Given the description of an element on the screen output the (x, y) to click on. 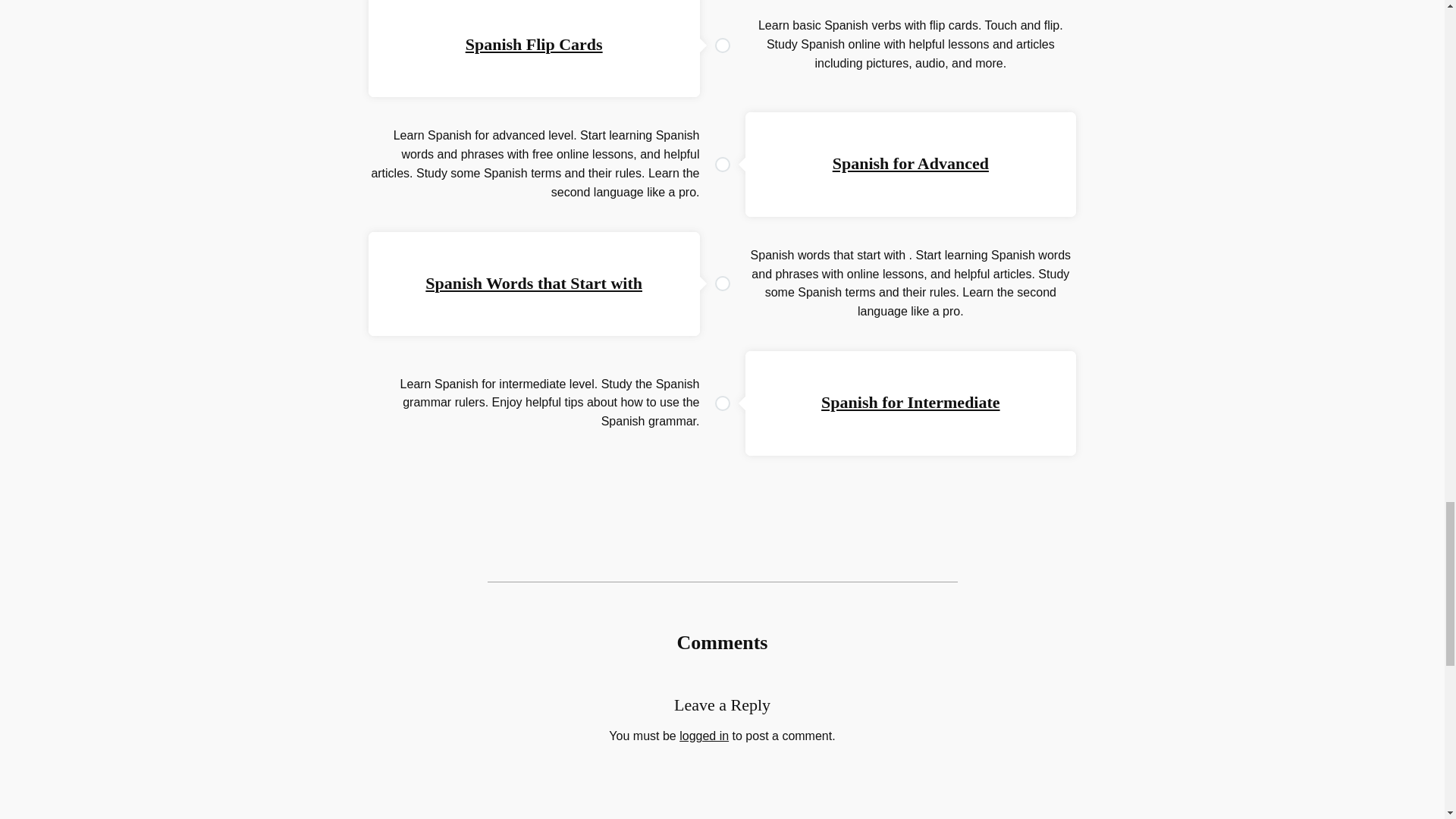
Spanish Words that Start with (533, 282)
Spanish for Intermediate (910, 402)
Spanish for Advanced (910, 162)
logged in (704, 735)
Spanish Flip Cards (533, 44)
